Given the description of an element on the screen output the (x, y) to click on. 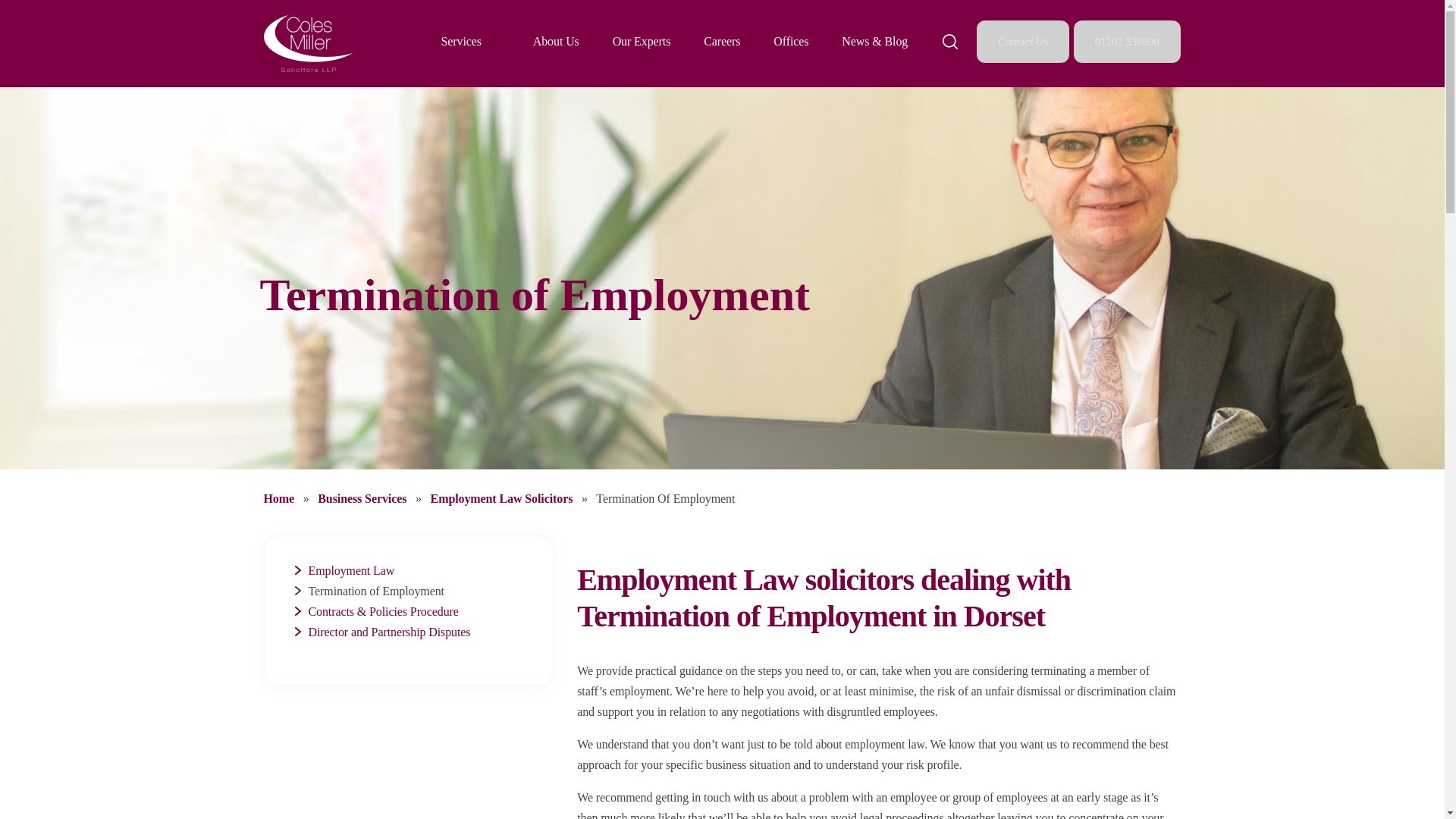
Contact Us (1024, 41)
Services (461, 41)
Offices (790, 41)
Contact Us (1022, 41)
Business Services (363, 498)
white text - transparent (307, 43)
Employment Law Solicitors (503, 498)
01202 338800 (1126, 41)
Our Experts (641, 41)
Home (280, 498)
01202 338800 (1126, 41)
Employment Law (350, 570)
About Us (555, 41)
Careers (721, 41)
